Given the description of an element on the screen output the (x, y) to click on. 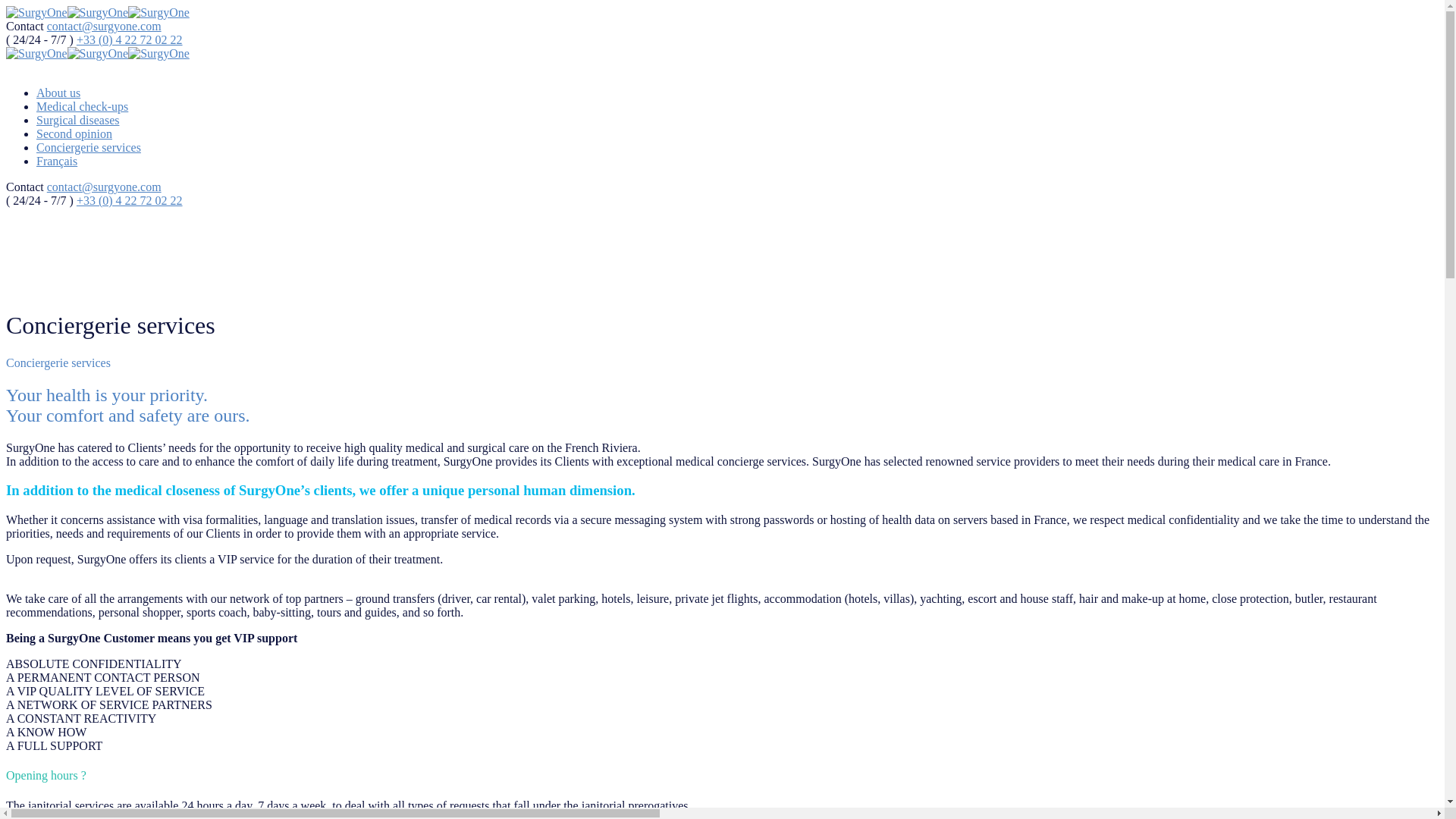
Second opinion (74, 133)
SurgyOne (35, 11)
SurgyOne (158, 52)
Medical check-ups (82, 106)
SurgyOne (158, 11)
SurgyOne (97, 11)
About us (58, 92)
Surgical diseases (77, 119)
SurgyOne (35, 52)
SurgyOne (97, 52)
